Given the description of an element on the screen output the (x, y) to click on. 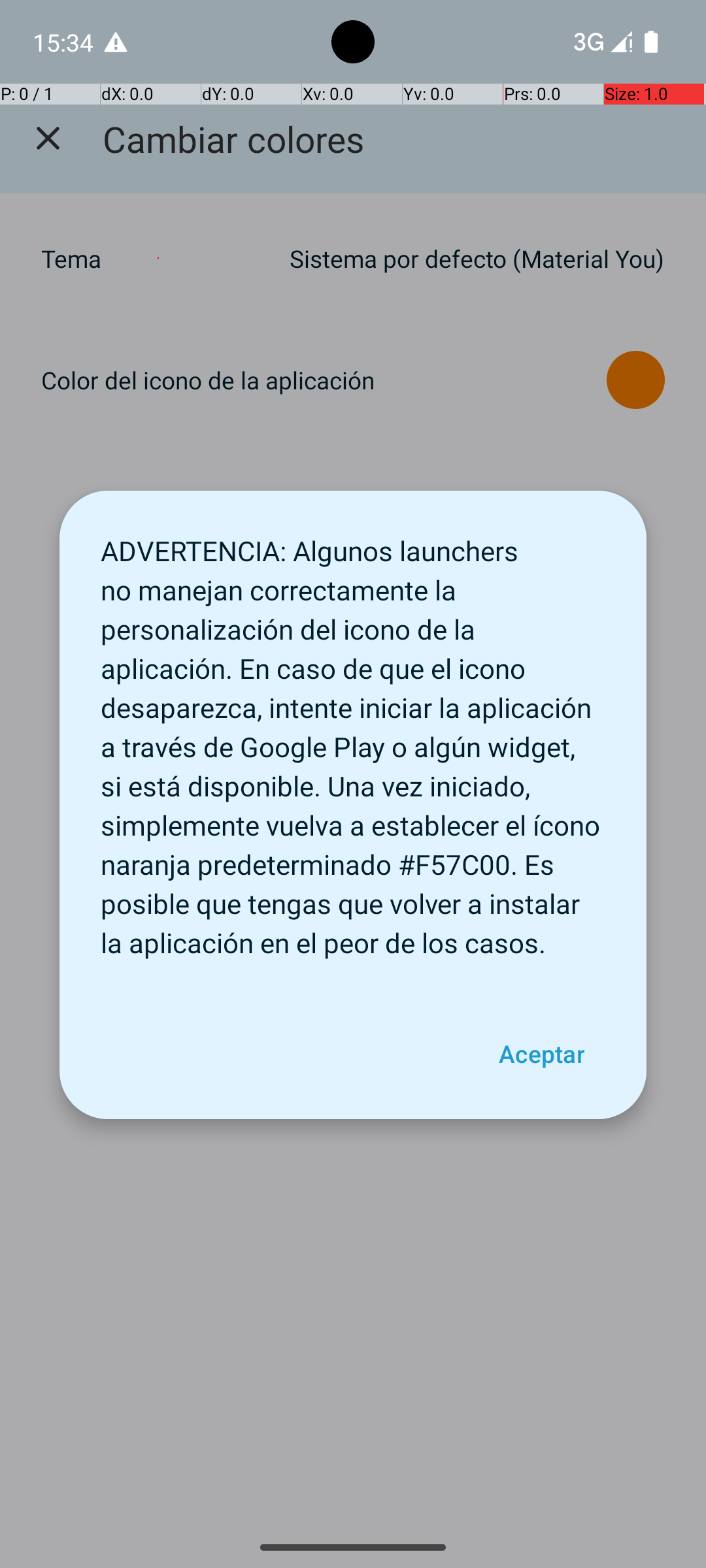
ADVERTENCIA: Algunos launchers no manejan correctamente la personalización del icono de la aplicación. En caso de que el icono desaparezca, intente iniciar la aplicación a través de Google Play o algún widget, si está disponible. Una vez iniciado, simplemente vuelva a establecer el ícono naranja predeterminado #F57C00. Es posible que tengas que volver a instalar la aplicación en el peor de los casos. Element type: android.widget.TextView (352, 739)
Aceptar Element type: android.widget.Button (541, 1053)
